Given the description of an element on the screen output the (x, y) to click on. 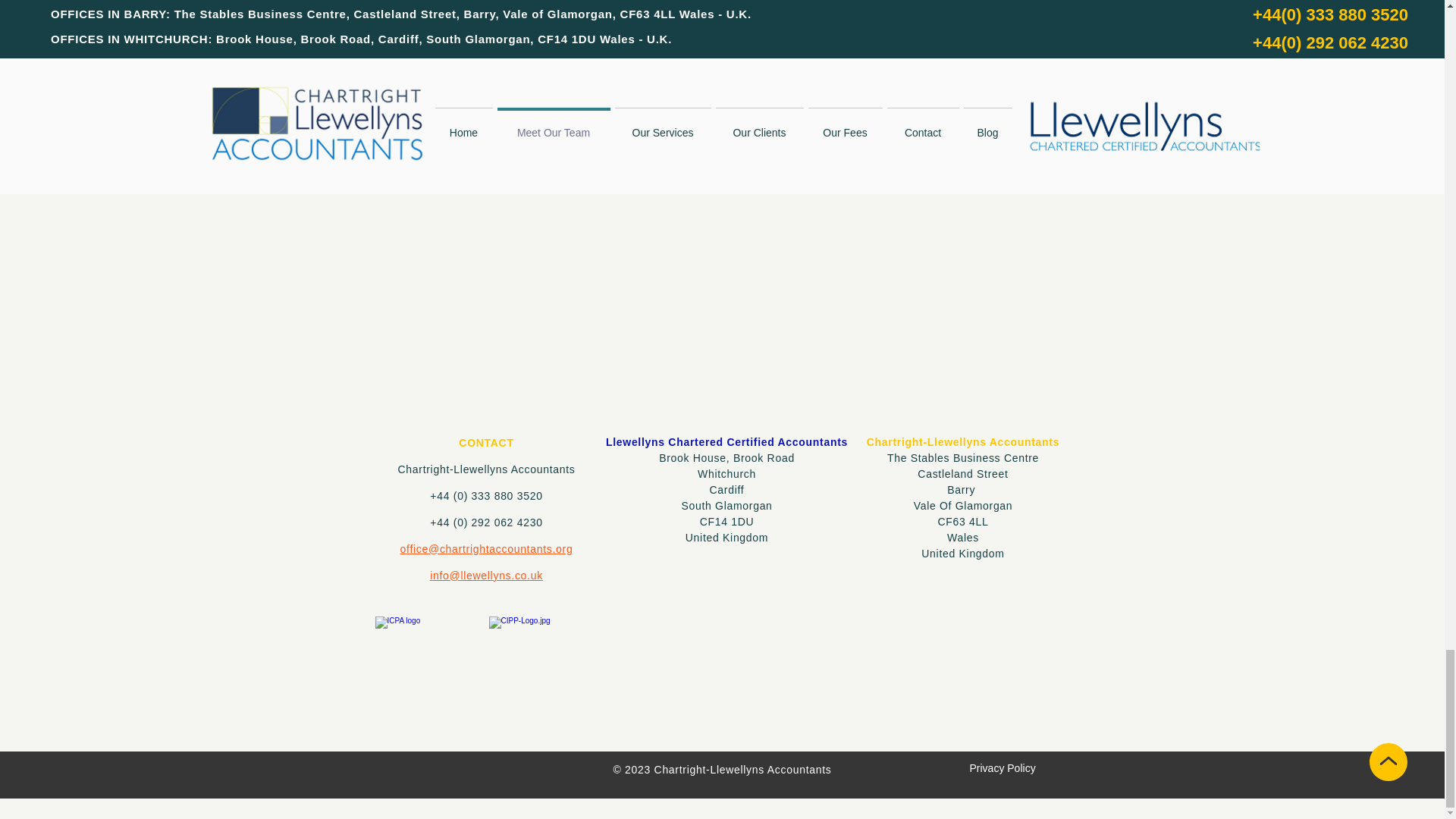
Privacy Policy (1002, 767)
